Given the description of an element on the screen output the (x, y) to click on. 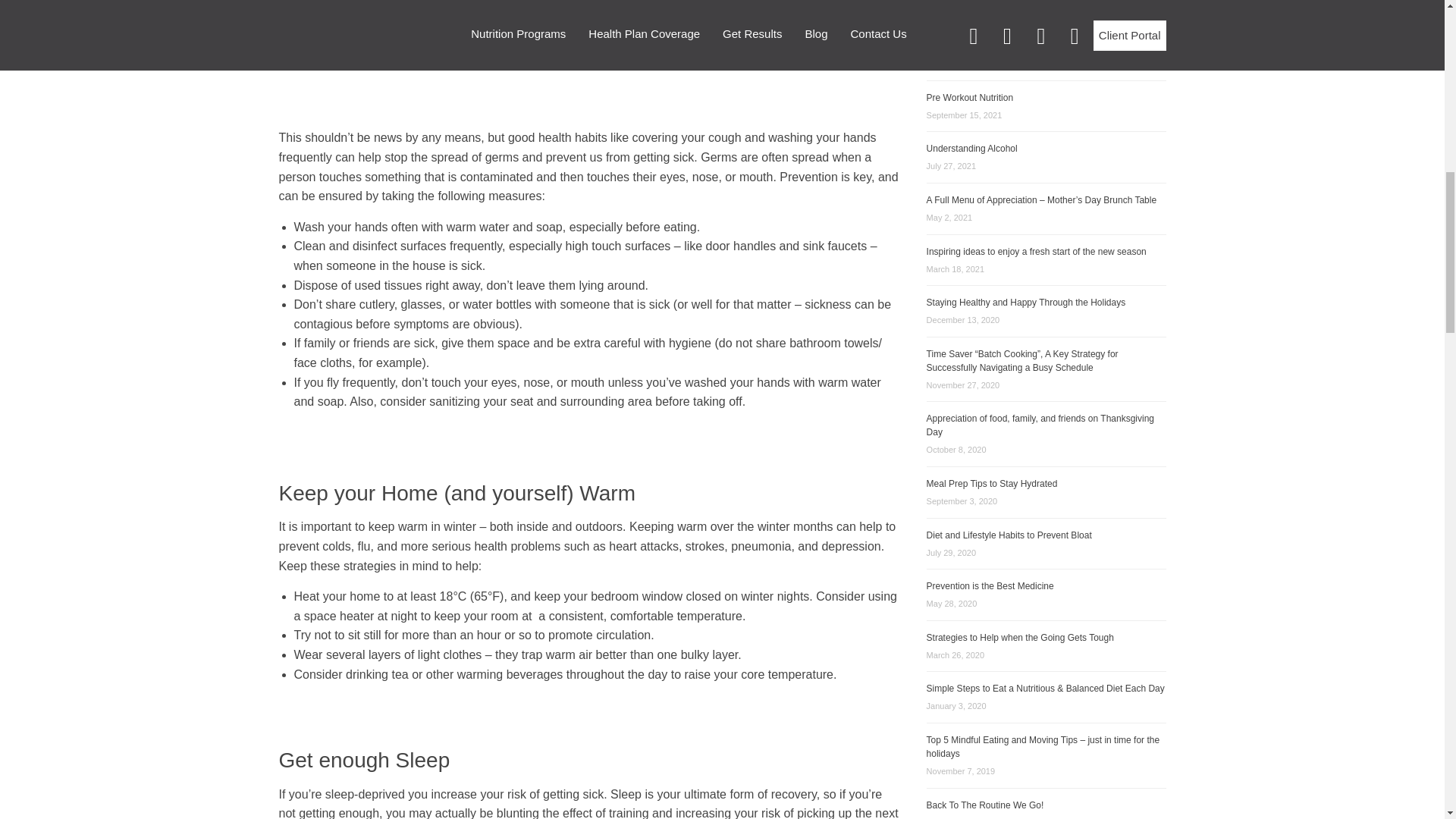
Pre Workout Nutrition (969, 97)
Understanding Alcohol (971, 148)
Inspiring ideas to enjoy a fresh start of the new season (1036, 251)
Staying Healthy and Happy Through the Holidays (1025, 302)
5 Tips for Holiday Health (976, 45)
